Given the description of an element on the screen output the (x, y) to click on. 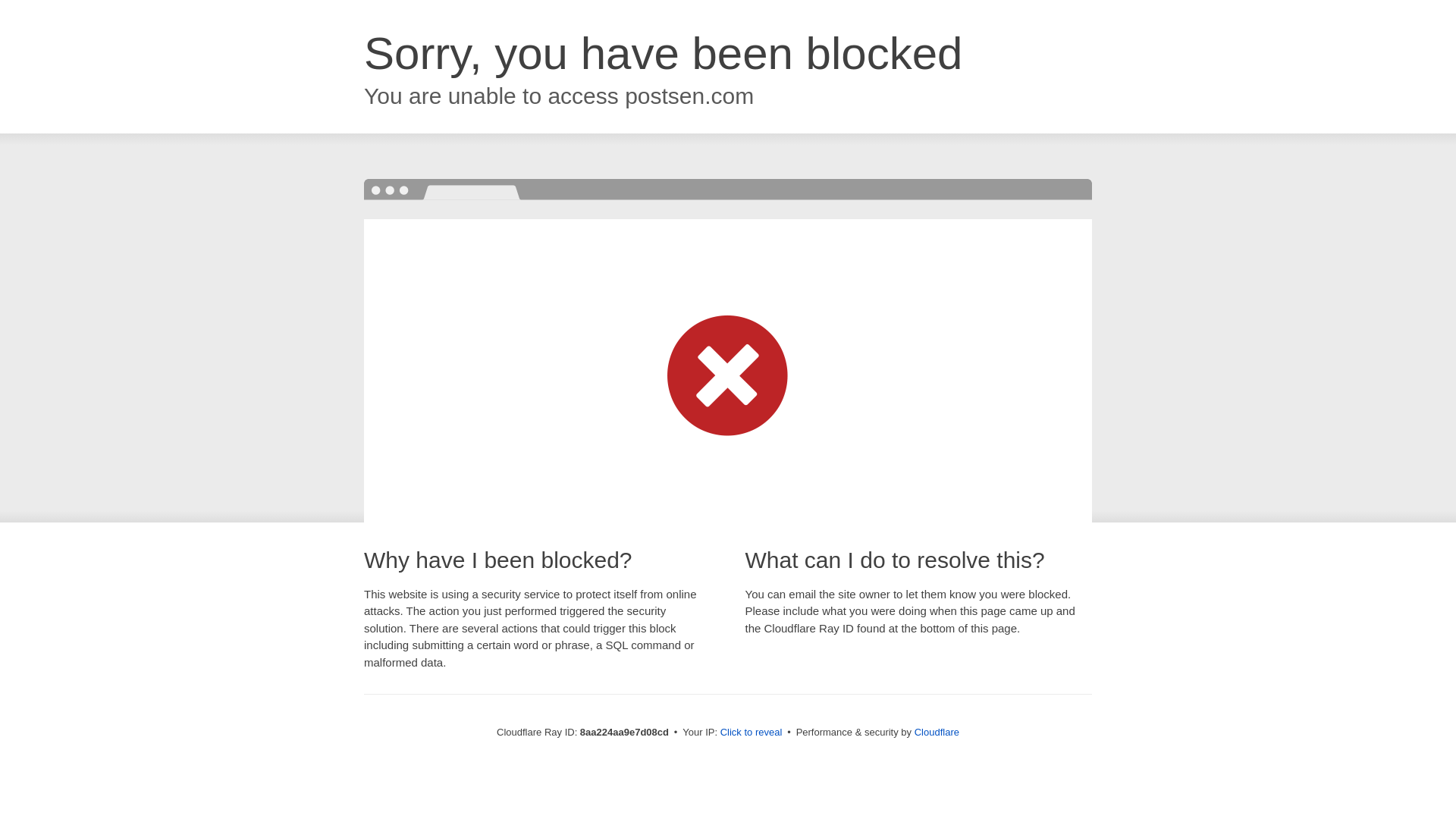
Cloudflare (936, 731)
Click to reveal (751, 732)
